Given the description of an element on the screen output the (x, y) to click on. 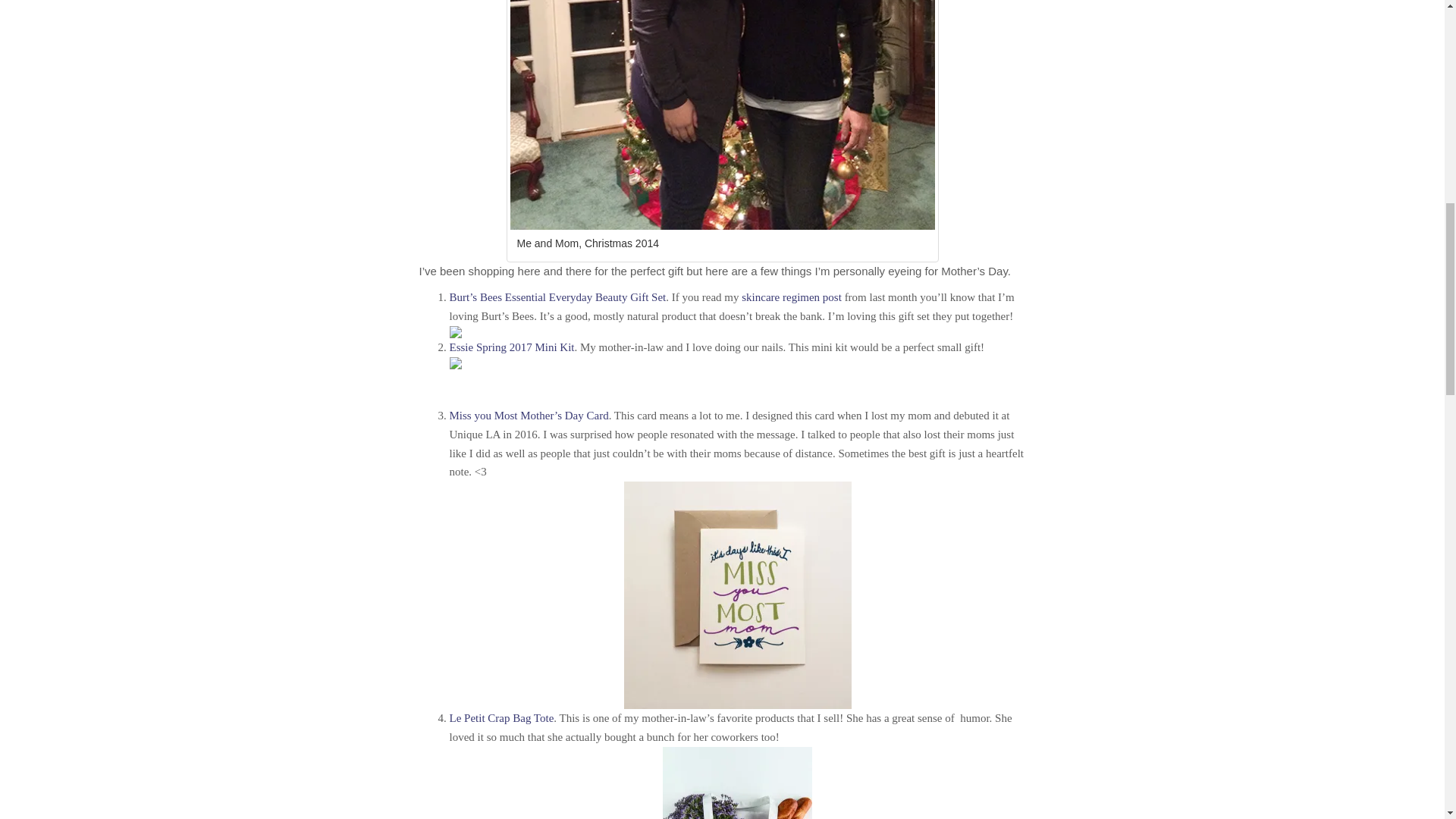
Essie Spring 2017 Mini Kit (510, 346)
skincare regimen post (791, 297)
Le Petit Crap Bag Tote (500, 717)
